Given the description of an element on the screen output the (x, y) to click on. 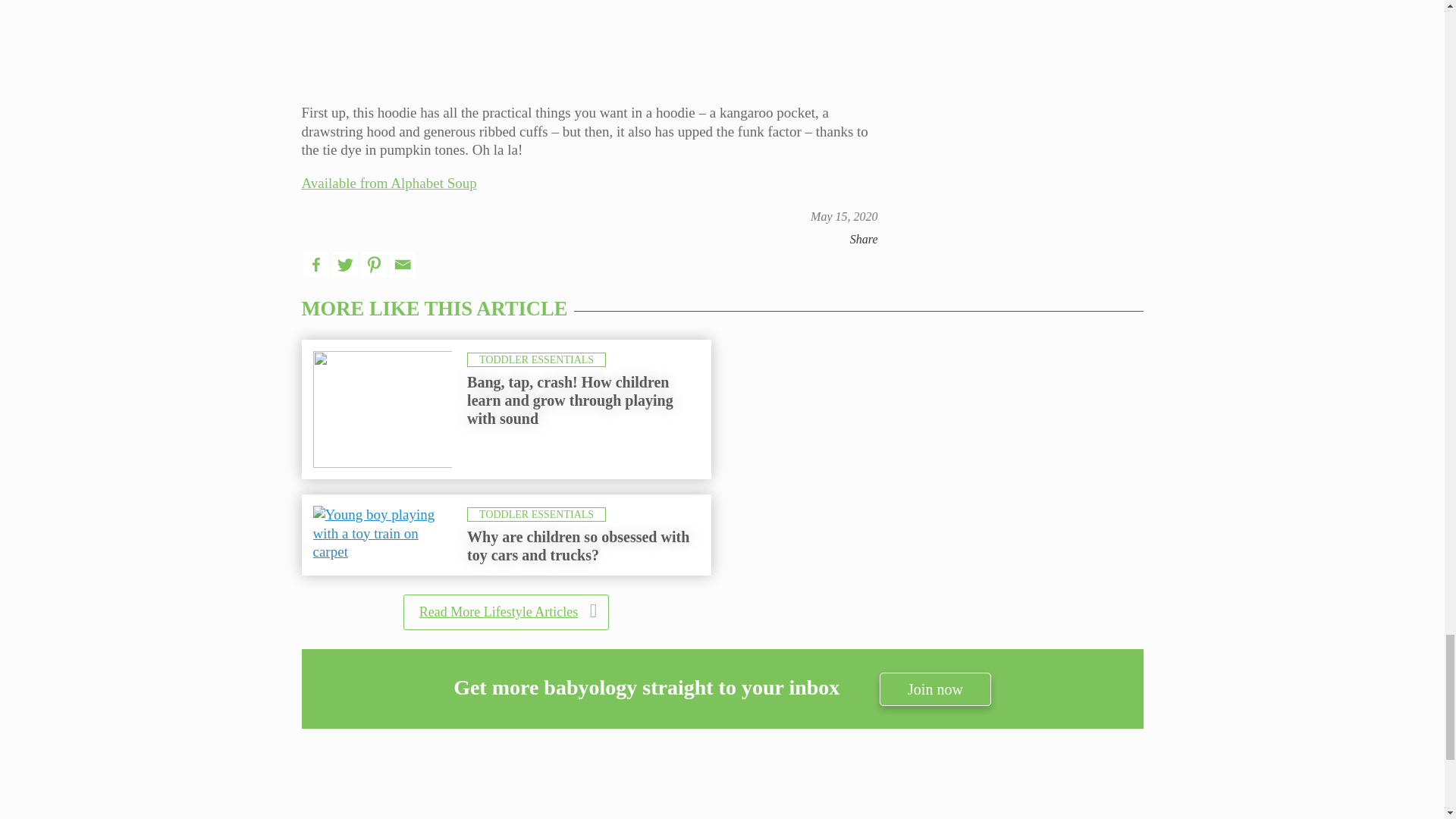
Twitter (344, 264)
Facebook (315, 264)
Pinterest (374, 264)
9:37 am (843, 215)
